Given the description of an element on the screen output the (x, y) to click on. 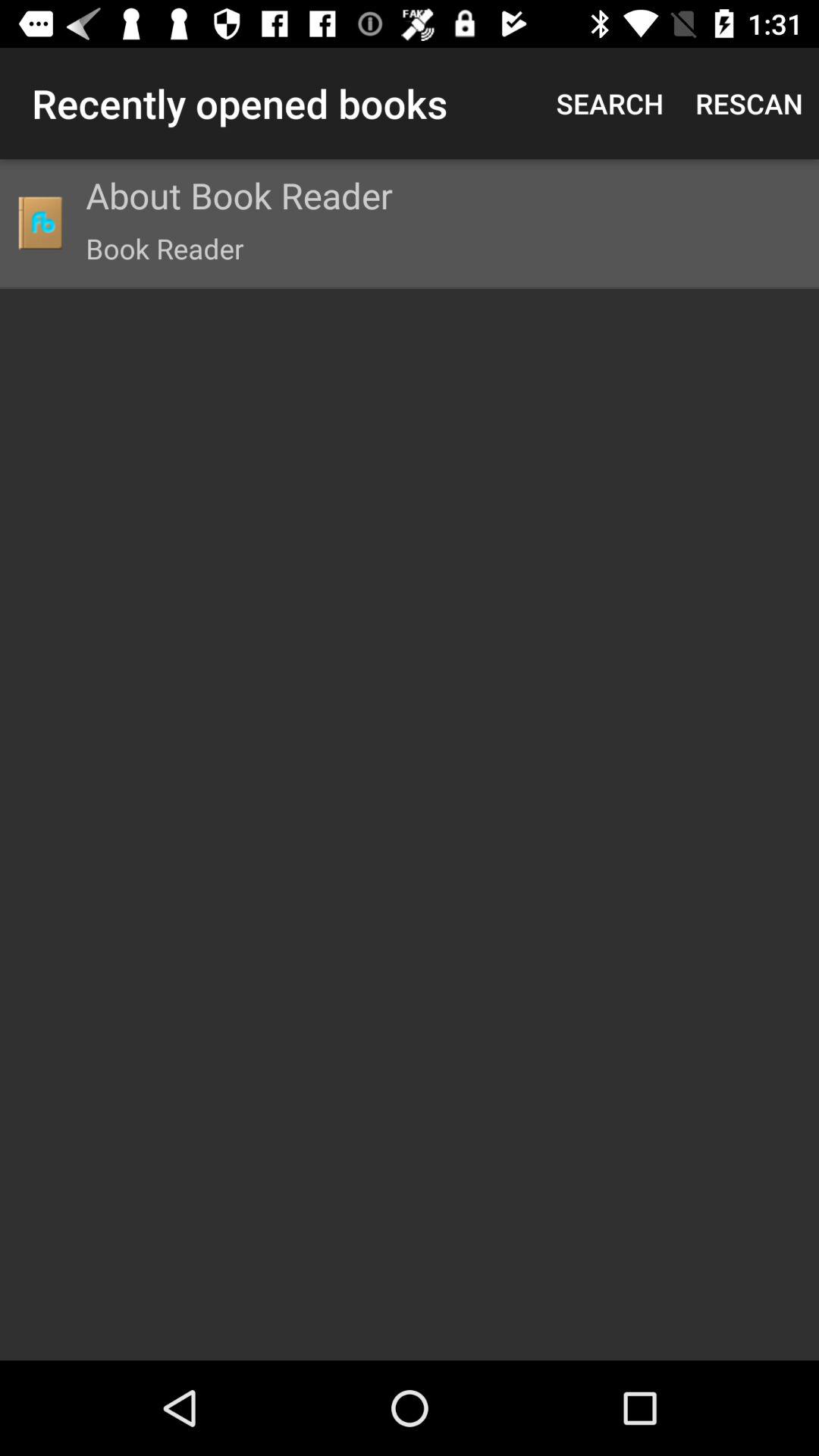
swipe to the search item (609, 103)
